Given the description of an element on the screen output the (x, y) to click on. 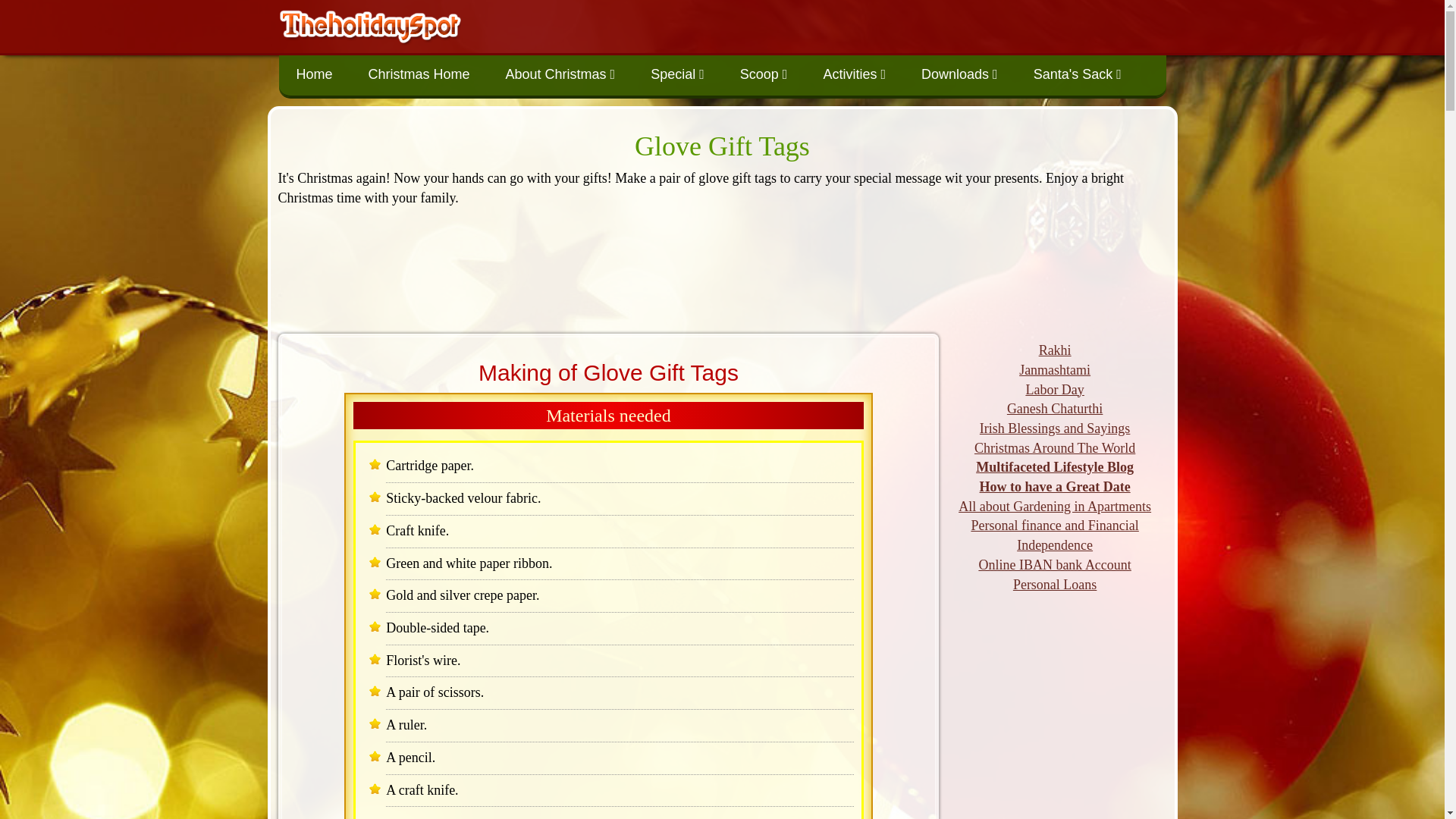
Christmas Home (418, 74)
TheHolidaySpot (370, 23)
Home (314, 74)
3rd party ad content (721, 266)
